Given the description of an element on the screen output the (x, y) to click on. 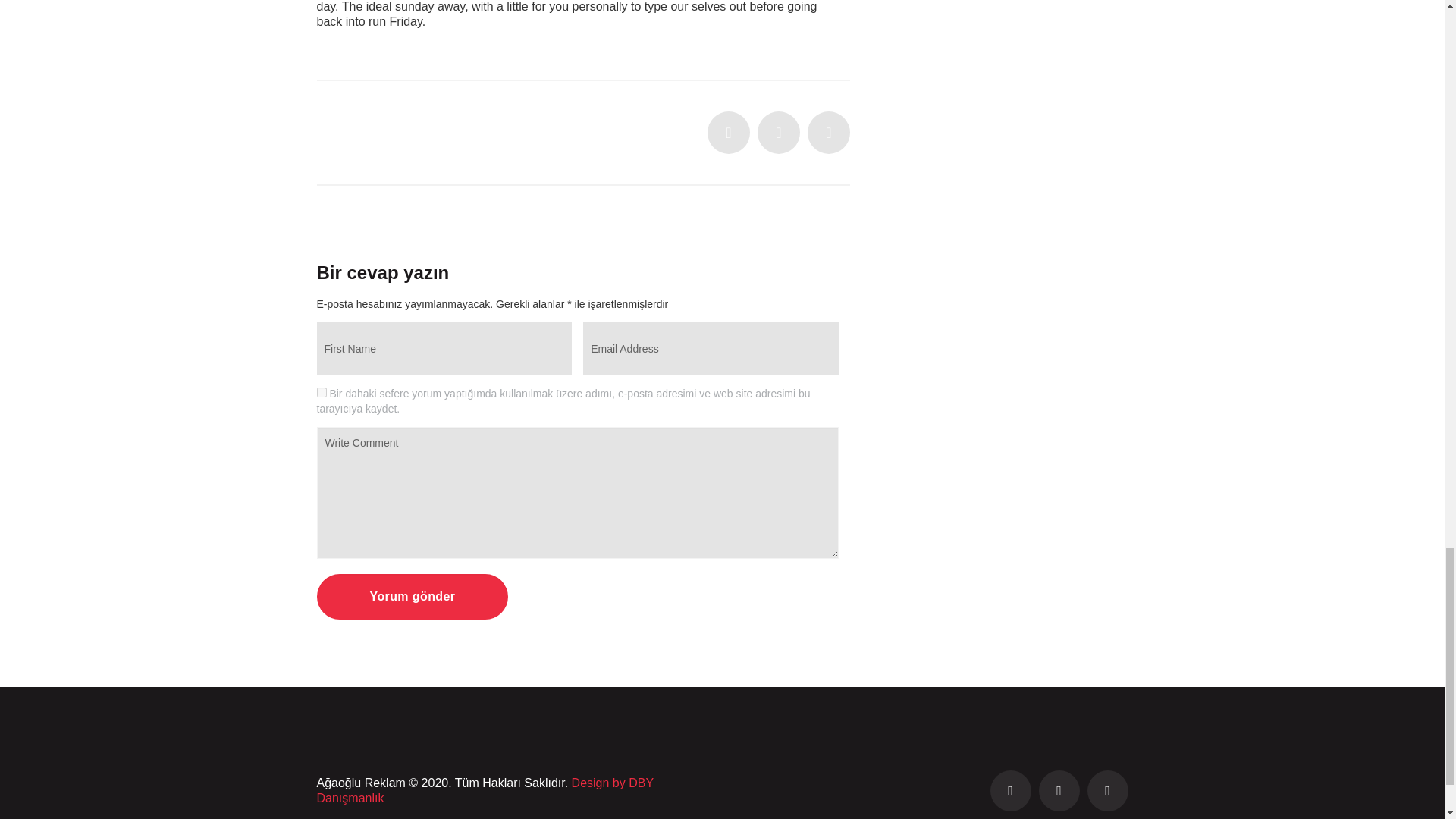
Social Share whatsapp (829, 132)
yes (321, 392)
Social Share twitter (728, 132)
Social Share facebook (778, 132)
